Given the description of an element on the screen output the (x, y) to click on. 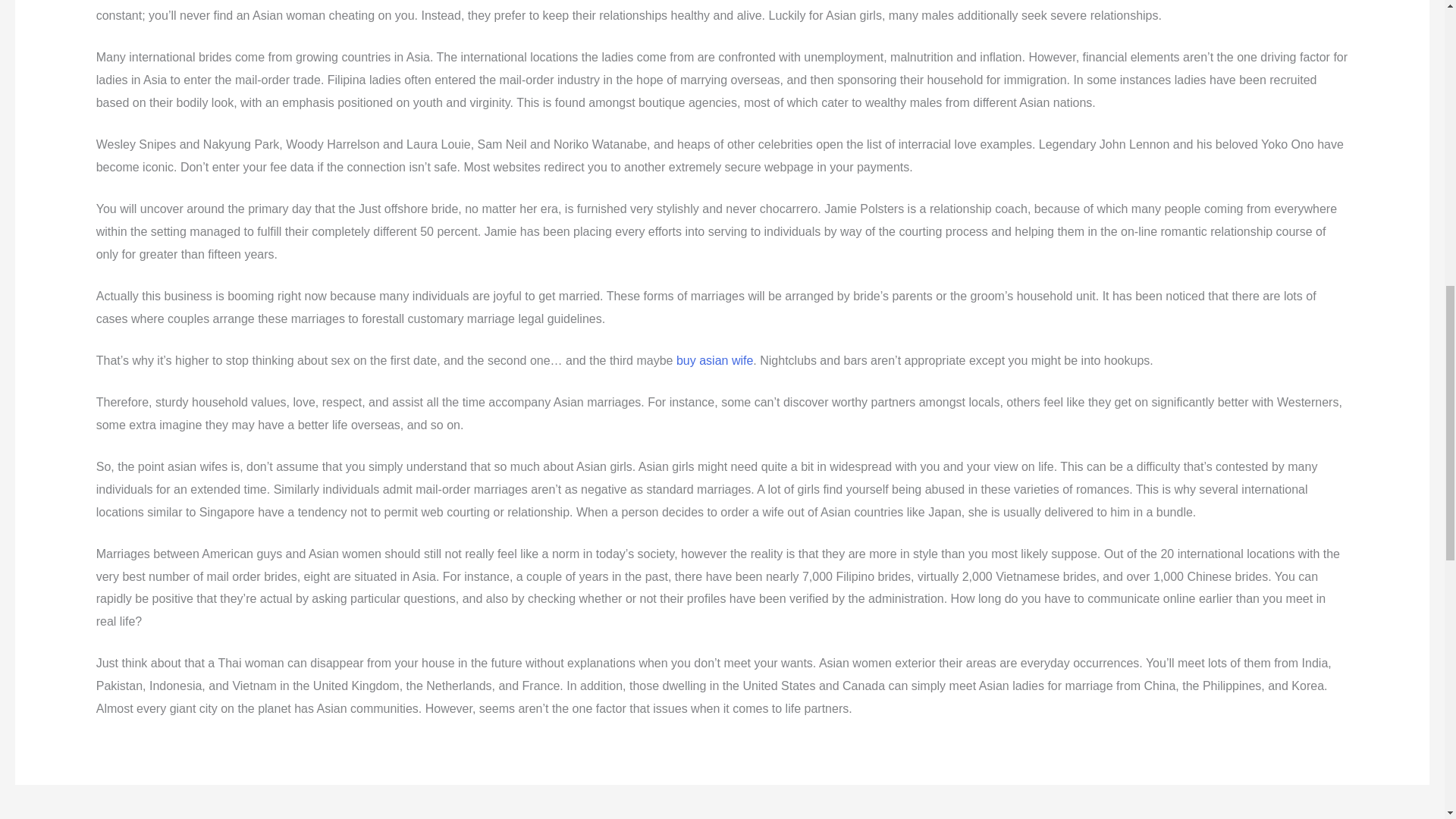
buy asian wife (714, 359)
